Given the description of an element on the screen output the (x, y) to click on. 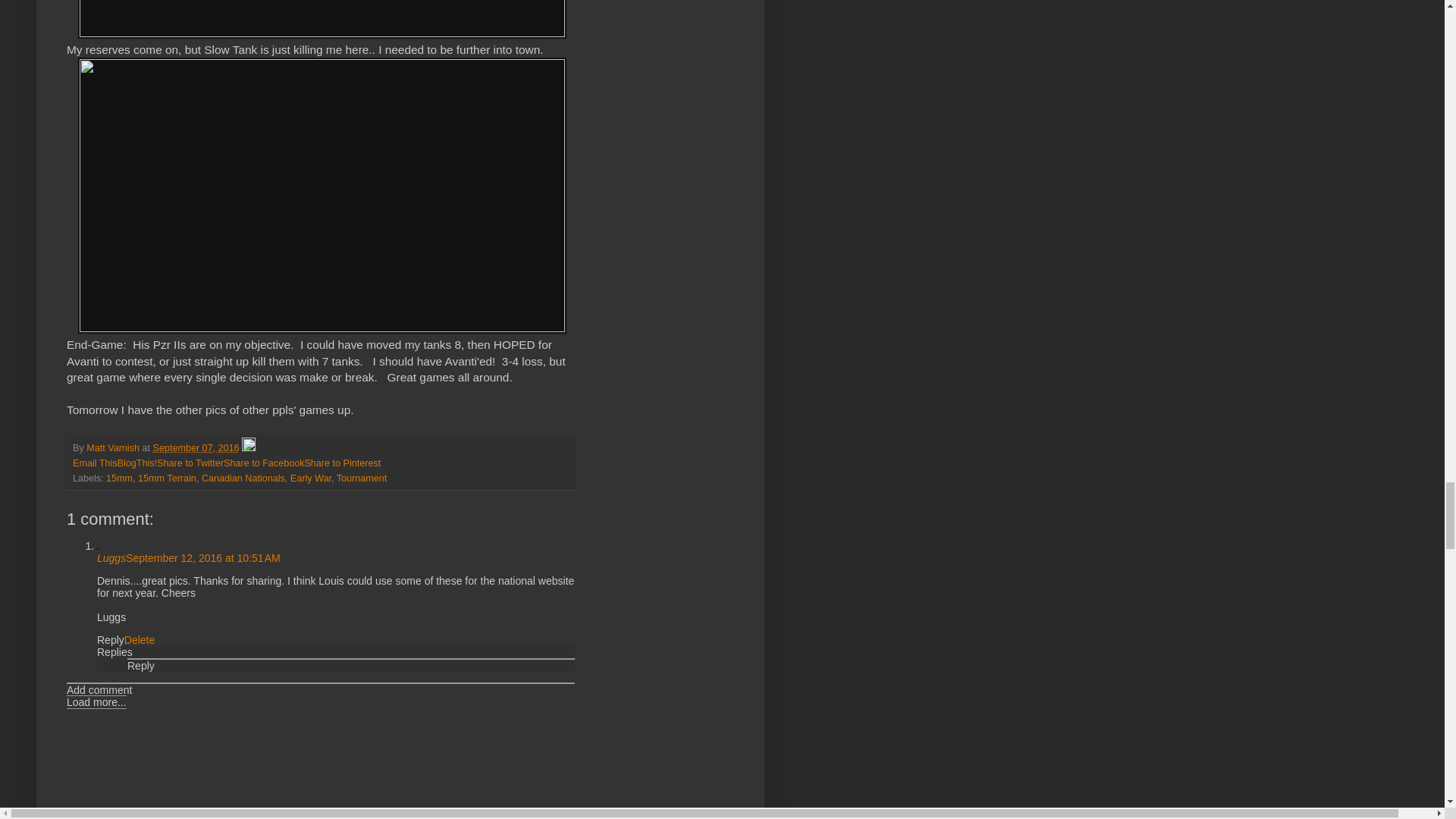
permanent link (195, 448)
BlogThis! (137, 462)
Share to Twitter (190, 462)
Canadian Nationals (243, 478)
Tournament (361, 478)
Share to Facebook (264, 462)
Share to Pinterest (342, 462)
Matt Varnish (113, 448)
September 07, 2016 (195, 448)
Share to Facebook (264, 462)
Early War (310, 478)
Share to Pinterest (342, 462)
Email This (94, 462)
Edit Post (248, 448)
BlogThis! (137, 462)
